Given the description of an element on the screen output the (x, y) to click on. 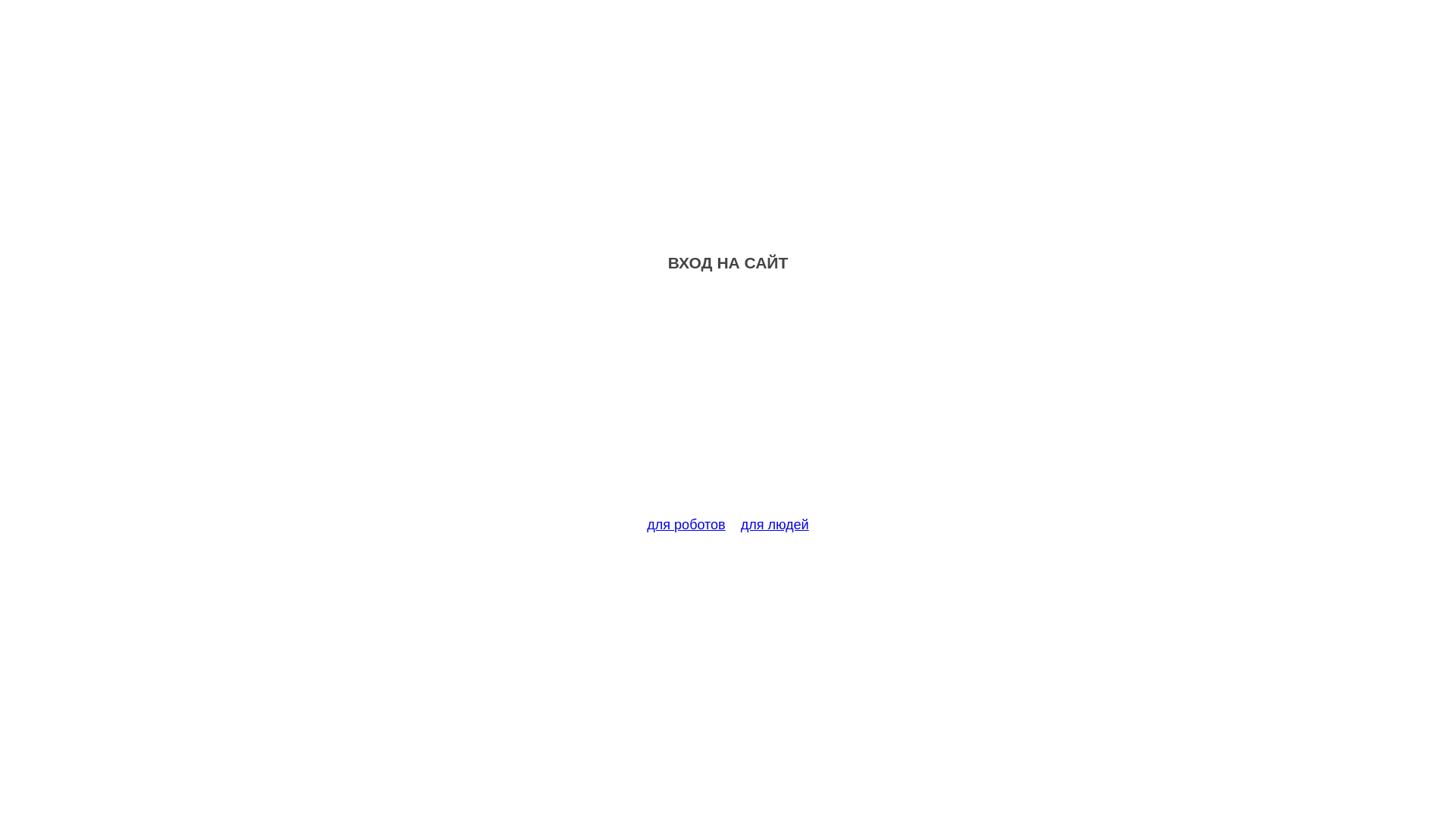
Advertisement Element type: hover (727, 403)
